Given the description of an element on the screen output the (x, y) to click on. 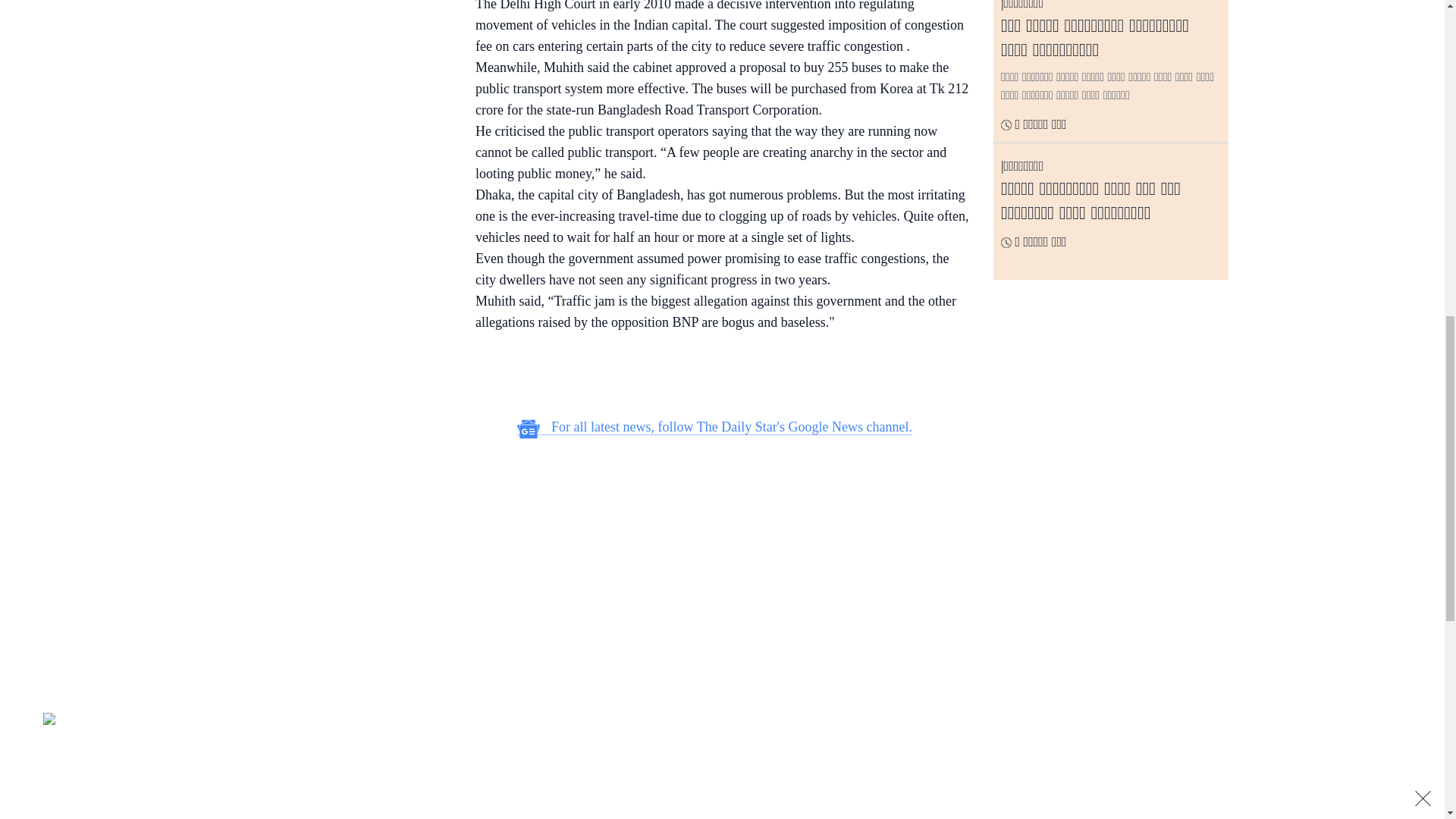
3rd party ad content (332, 103)
3rd party ad content (713, 547)
3rd party ad content (713, 738)
3rd party ad content (714, 376)
